Given the description of an element on the screen output the (x, y) to click on. 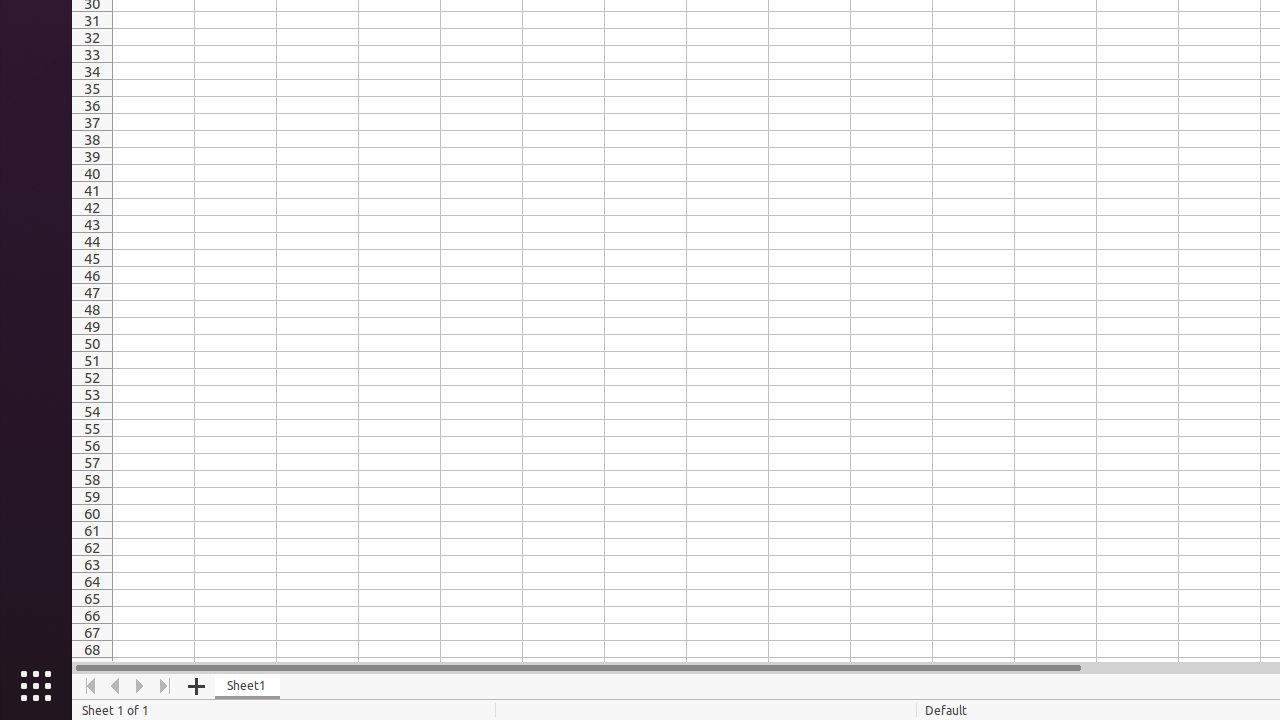
Show Applications Element type: toggle-button (36, 686)
